Given the description of an element on the screen output the (x, y) to click on. 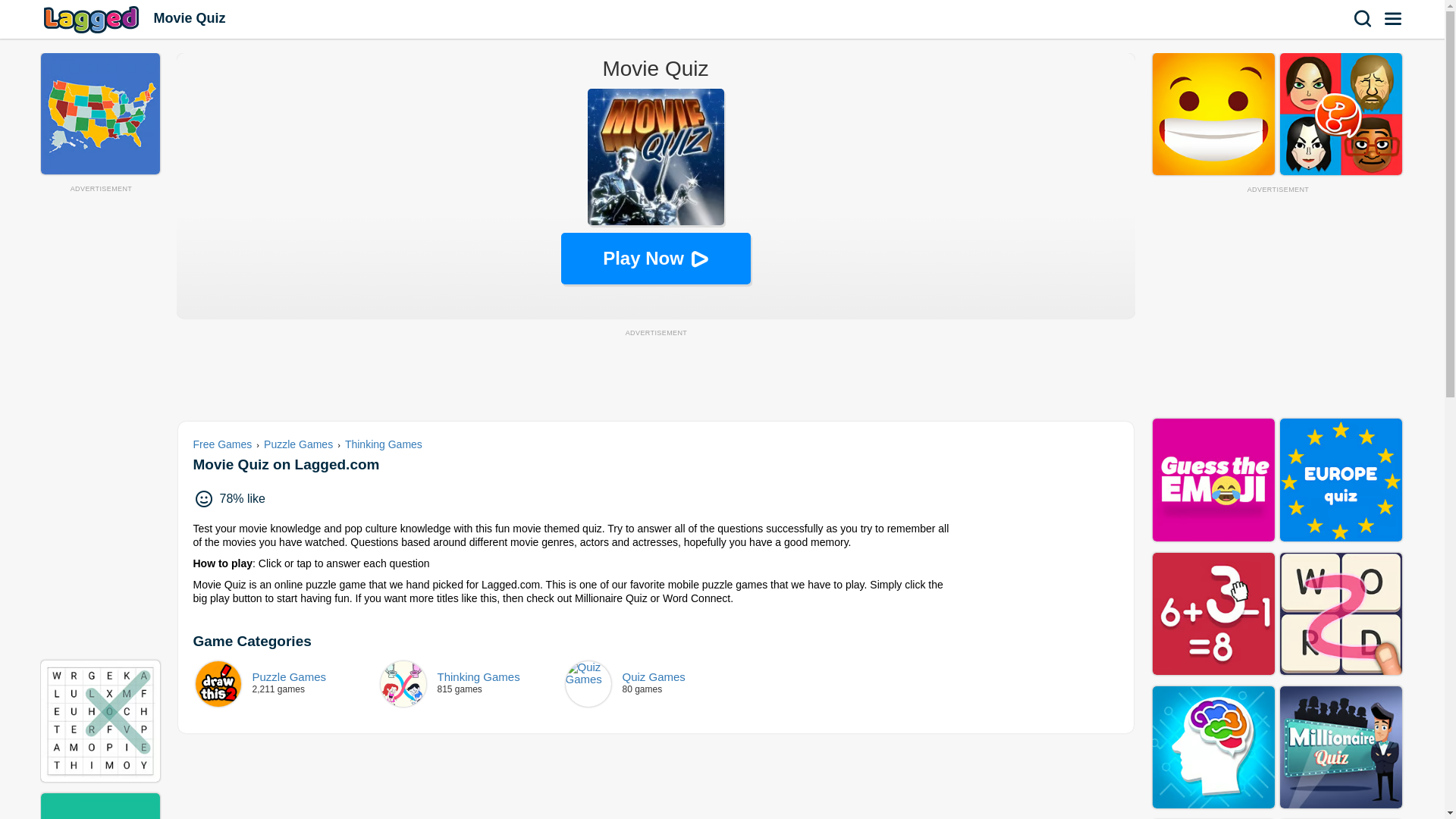
Puzzle Games (286, 683)
Free Games (222, 444)
Puzzle Games (298, 444)
Thinking Games (471, 683)
Thinking Games (286, 683)
Quiz Games (471, 683)
Lagged (383, 444)
Lagged (657, 683)
Play Now (92, 19)
